Given the description of an element on the screen output the (x, y) to click on. 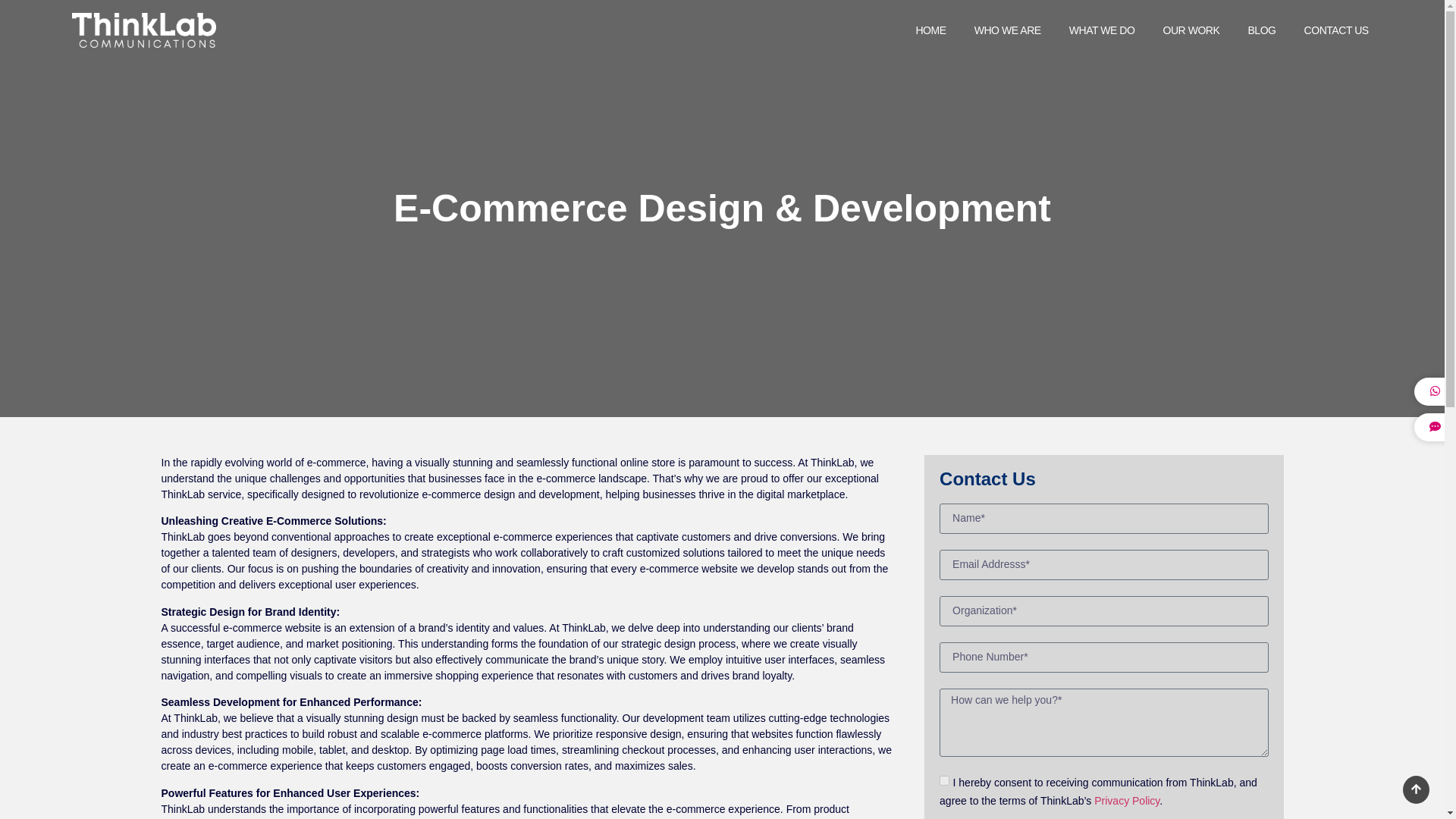
BLOG (1261, 30)
Privacy Policy (1126, 800)
WHO WE ARE (1008, 30)
on (944, 780)
CONTACT US (1336, 30)
HOME (930, 30)
OUR WORK (1190, 30)
WHAT WE DO (1101, 30)
